Given the description of an element on the screen output the (x, y) to click on. 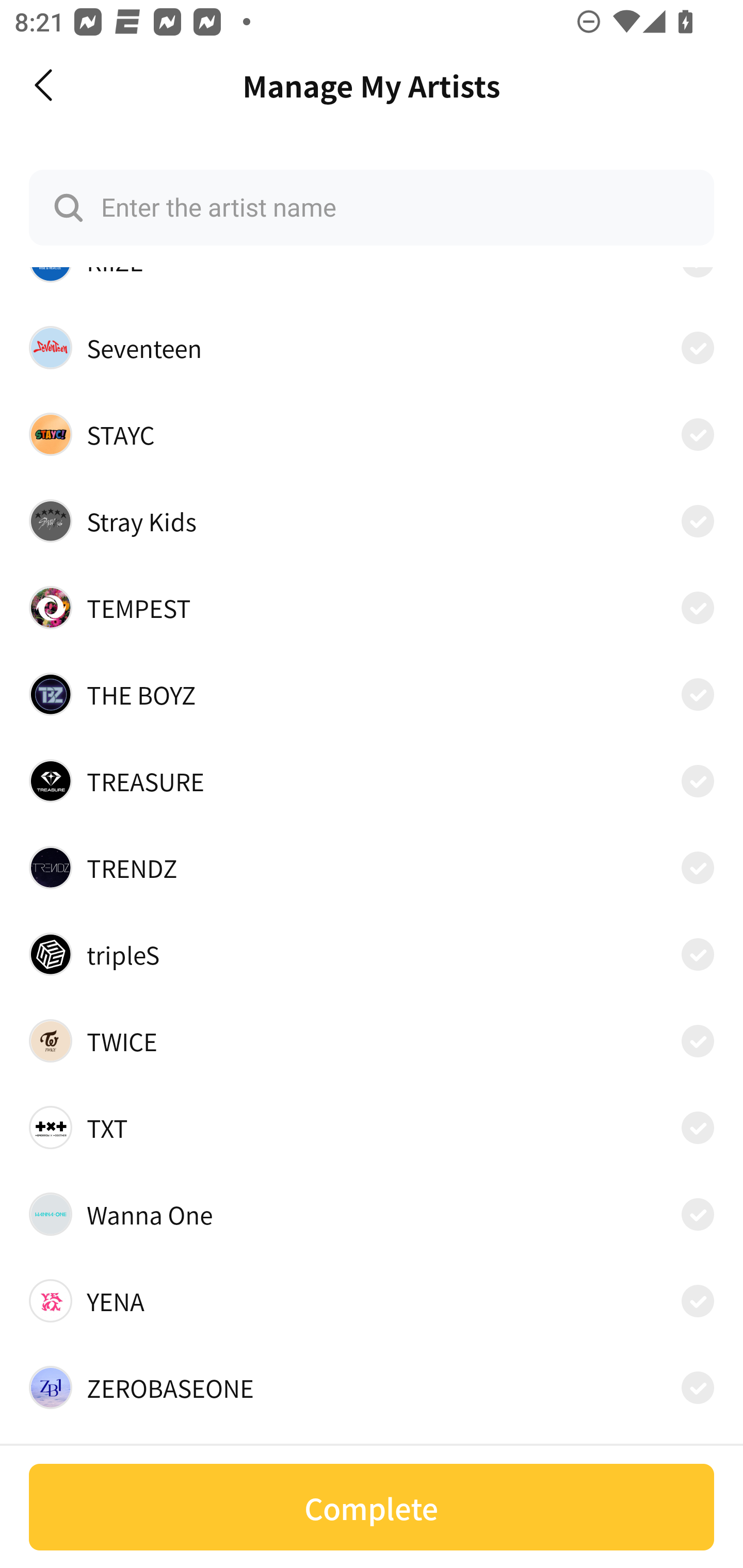
Enter the artist name (371, 207)
Seventeen (371, 348)
STAYC (371, 434)
Stray Kids (371, 520)
TEMPEST (371, 607)
THE BOYZ (371, 694)
TREASURE (371, 780)
TRENDZ (371, 867)
tripleS (371, 953)
TWICE (371, 1041)
TXT (371, 1127)
Wanna One (371, 1214)
YENA (371, 1300)
ZEROBASEONE (371, 1387)
Complete (371, 1507)
